Given the description of an element on the screen output the (x, y) to click on. 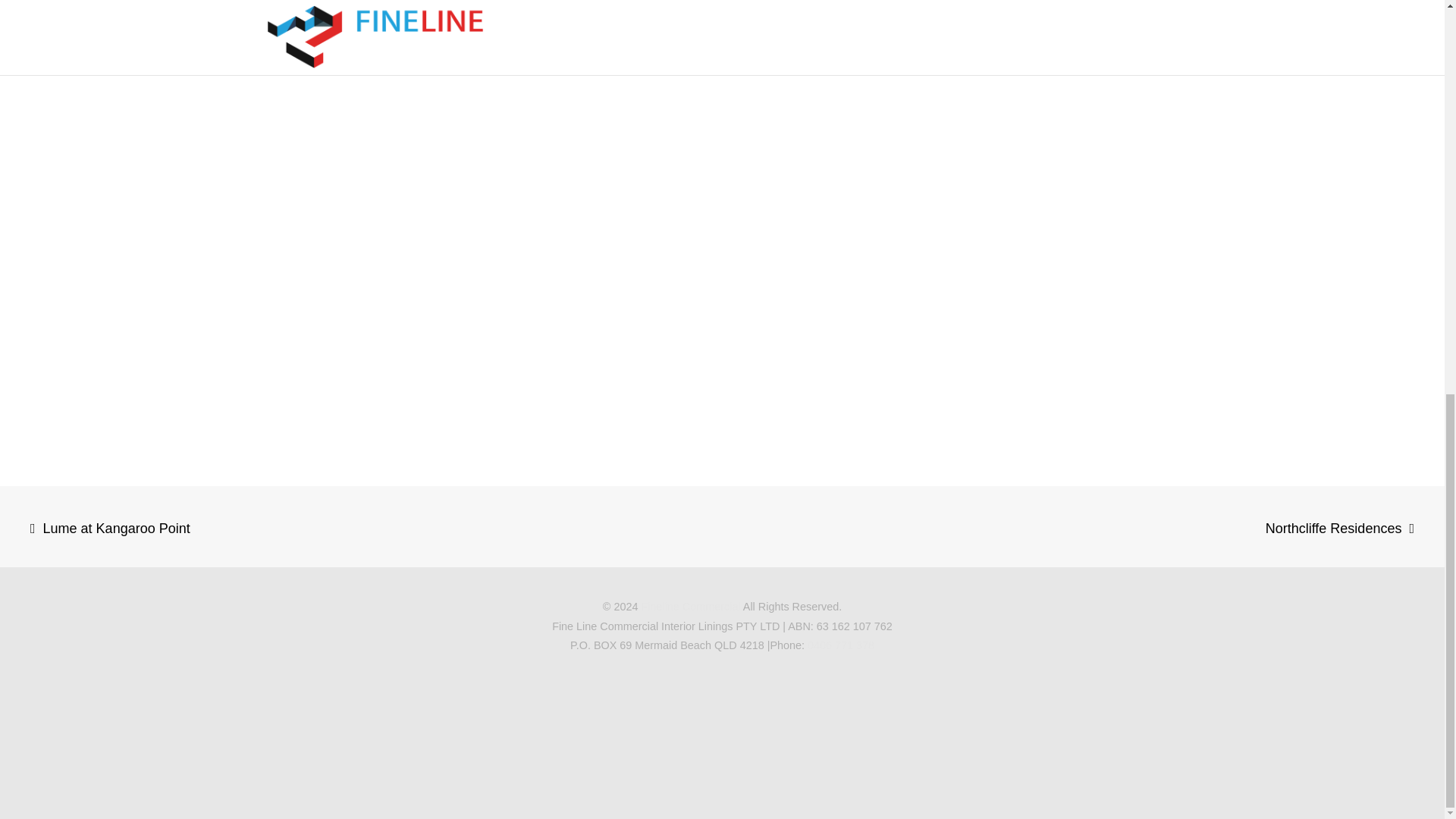
100 Creek Street Refurbishment (609, 71)
100 Creek Street Refurbishment (381, 71)
100 Creek Street Refurbishment (836, 71)
